Given the description of an element on the screen output the (x, y) to click on. 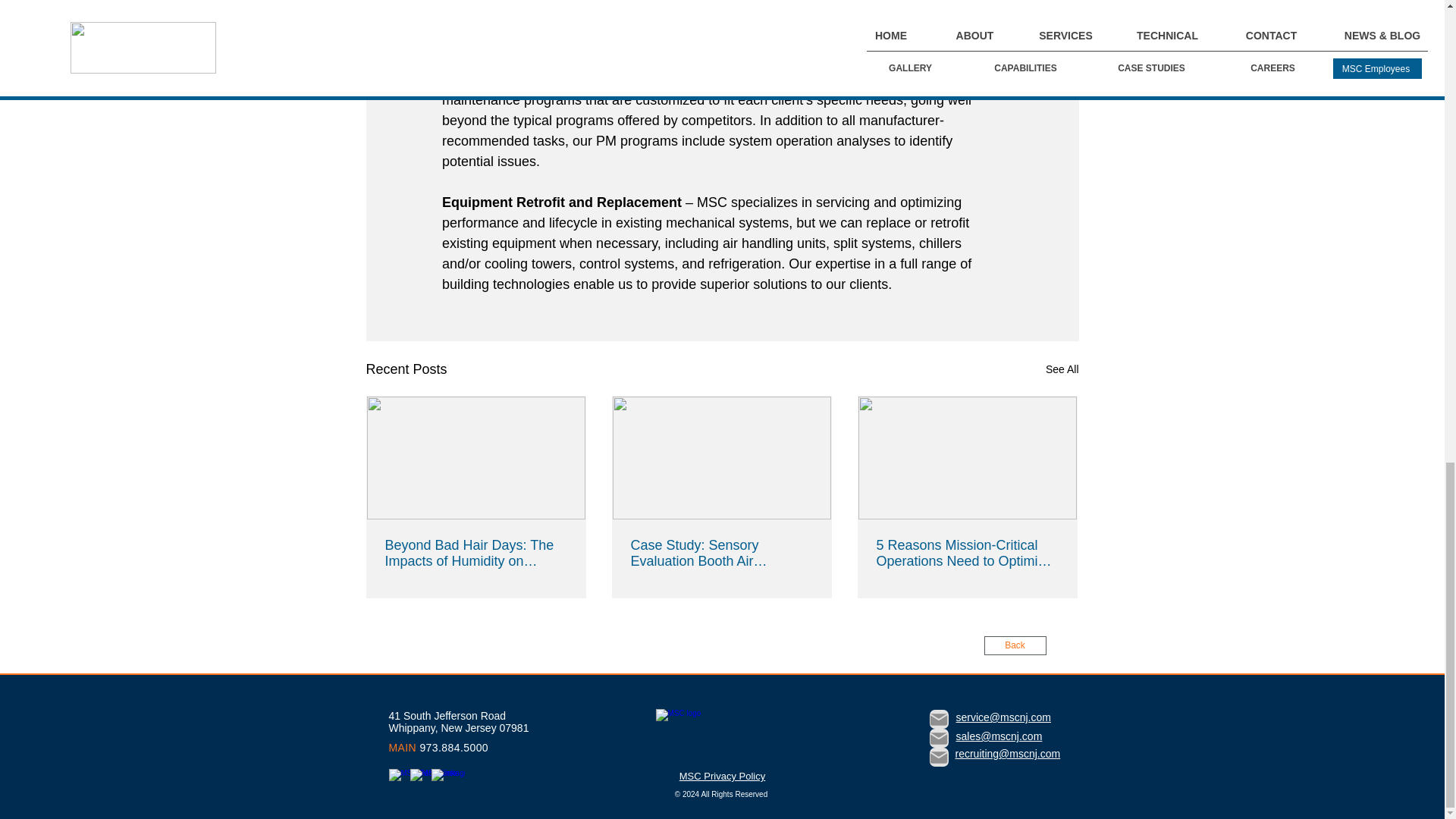
MSC Privacy Policy (722, 776)
Back (1015, 645)
See All (1061, 369)
